Given the description of an element on the screen output the (x, y) to click on. 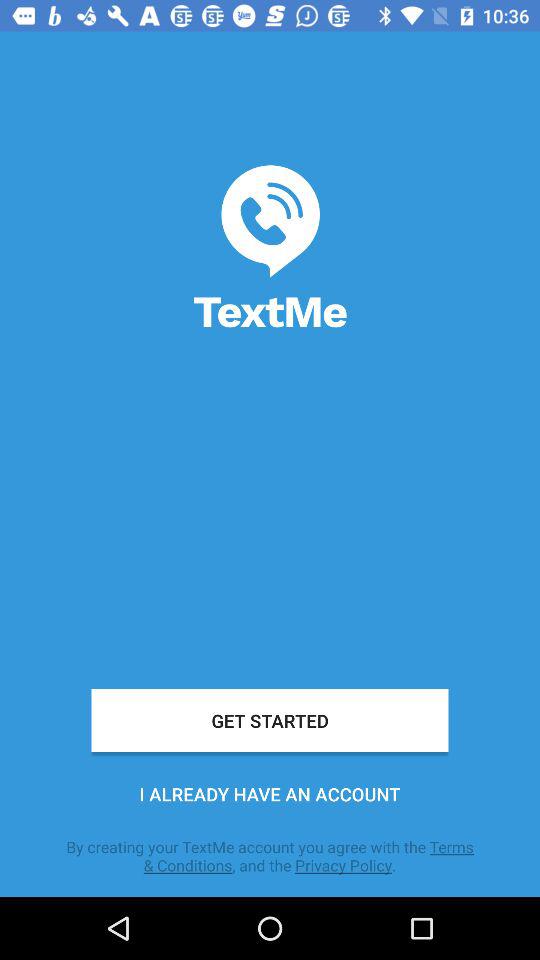
turn off the icon above i already have (269, 720)
